Given the description of an element on the screen output the (x, y) to click on. 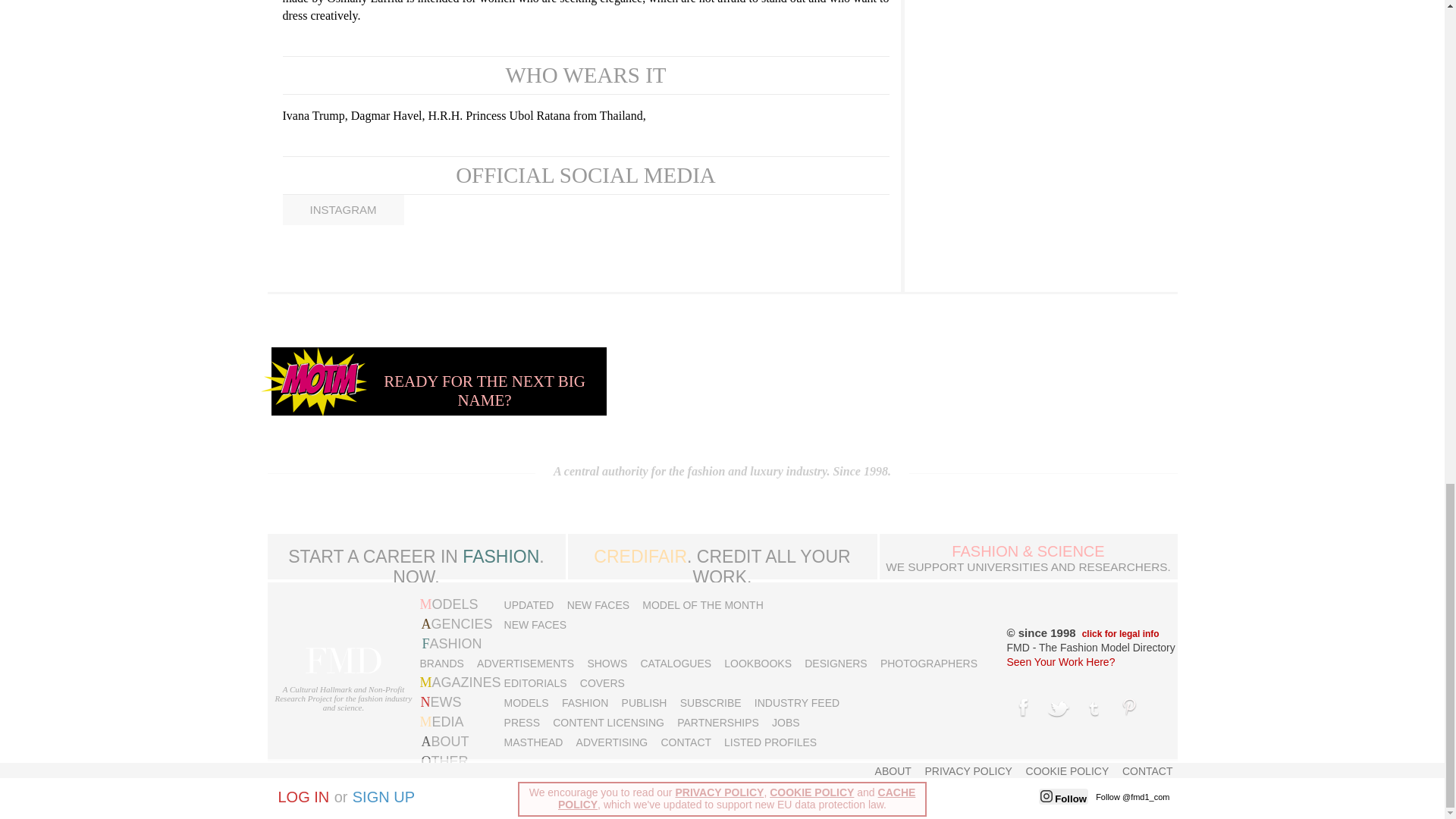
3rd party ad content (897, 381)
